Given the description of an element on the screen output the (x, y) to click on. 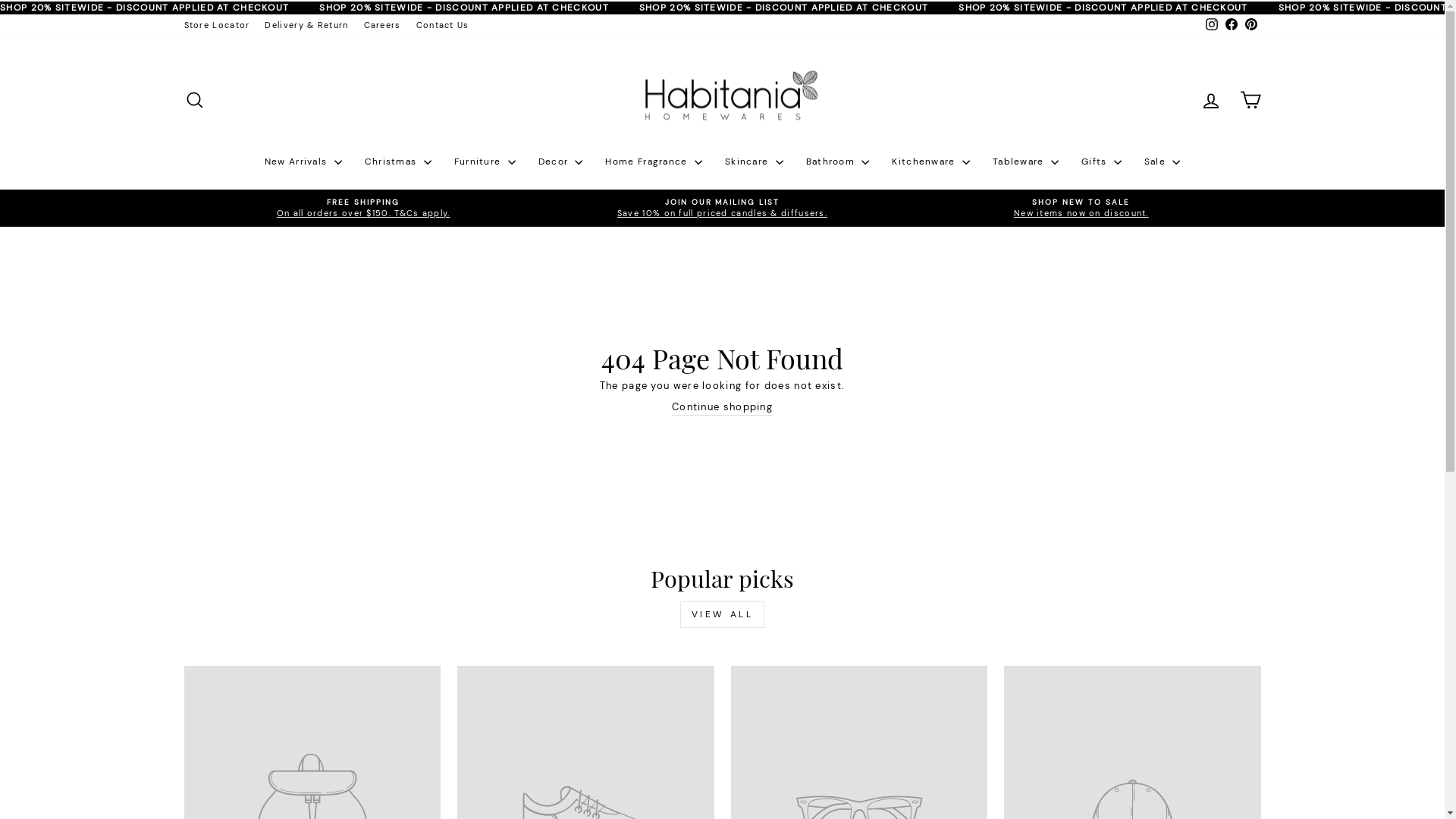
Pinterest Element type: text (1250, 25)
FREE SHIPPING
On all orders over $150. T&Cs apply. Element type: text (363, 208)
icon-search
Search Element type: text (193, 100)
Careers Element type: text (382, 24)
Continue shopping Element type: text (721, 407)
SHOP NEW TO SALE
New items now on discount. Element type: text (1080, 208)
Delivery & Return Element type: text (306, 24)
VIEW ALL Element type: text (722, 614)
account
Log in Element type: text (1210, 100)
Contact Us Element type: text (442, 24)
Store Locator Element type: text (216, 24)
Cart Element type: text (1249, 100)
instagram
Instagram Element type: text (1210, 25)
Facebook Element type: text (1230, 25)
